Given the description of an element on the screen output the (x, y) to click on. 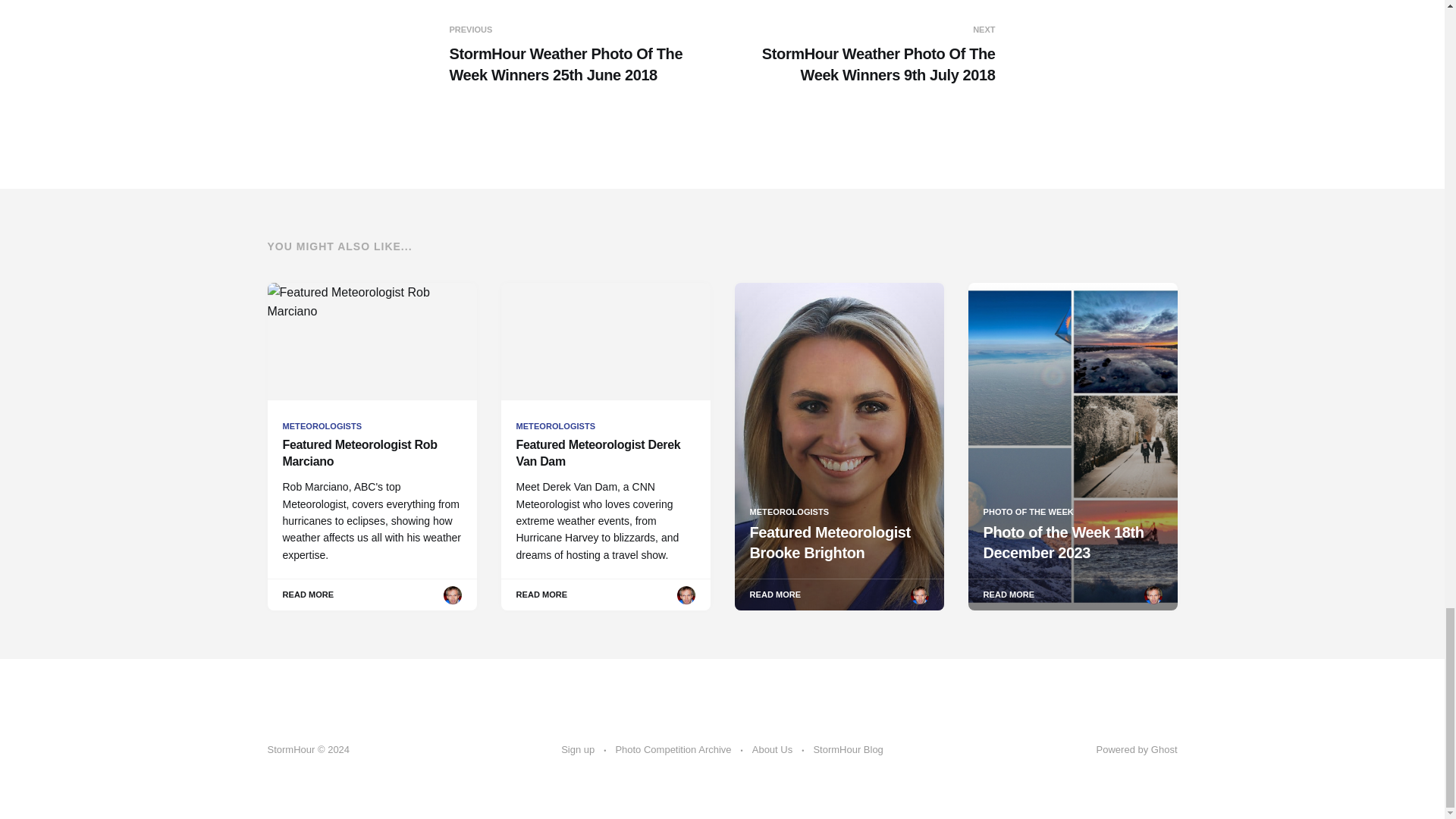
Photo Competition Archive (672, 750)
StormHour Blog (847, 750)
Sign up (577, 750)
Powered by Ghost (1136, 749)
About Us (772, 750)
